Given the description of an element on the screen output the (x, y) to click on. 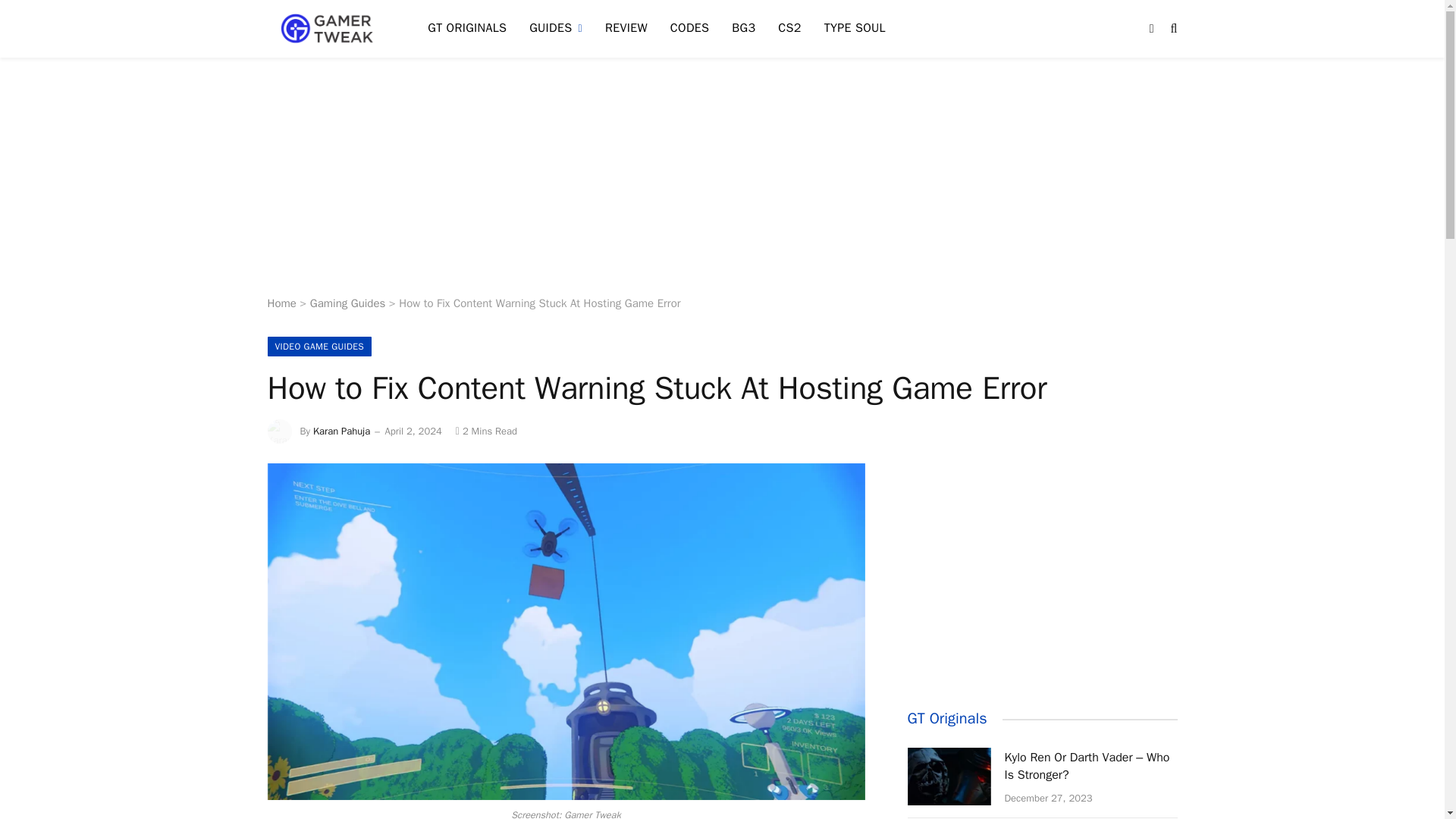
TYPE SOUL (854, 28)
Gamer Tweak (328, 28)
Karan Pahuja (341, 431)
GUIDES (556, 28)
Gaming Guides (347, 303)
CODES (689, 28)
Home (280, 303)
REVIEW (626, 28)
